Given the description of an element on the screen output the (x, y) to click on. 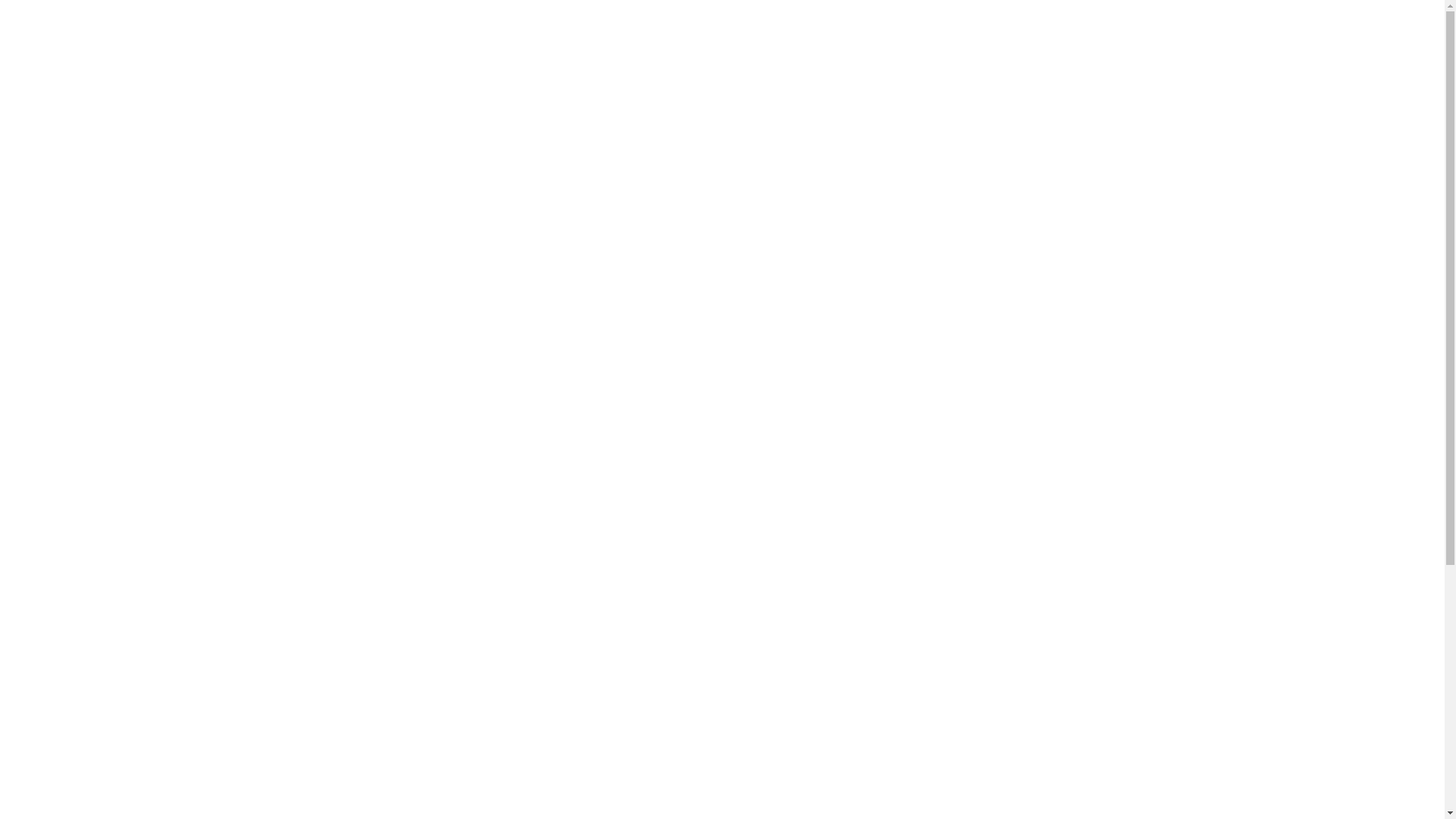
ARBEITSUCHENDE Element type: text (1030, 155)
Arbeitgeber Element type: text (25, 75)
Arbeitsuchende Element type: text (33, 41)
Name (erforderlich) Element type: text (1042, 420)
JOBPORTAL Element type: text (1053, 266)
ARBEITGEBER Element type: text (925, 266)
E-Mail (erforderlich) Element type: text (1042, 462)
Jobportal Element type: text (19, 92)
INITIATIVBEWERBUNG Element type: text (1017, 211)
Initiativbewerbung Element type: text (40, 58)
HOME Element type: text (798, 155)
Senden Element type: text (1000, 573)
Home Element type: text (12, 7)
